Given the description of an element on the screen output the (x, y) to click on. 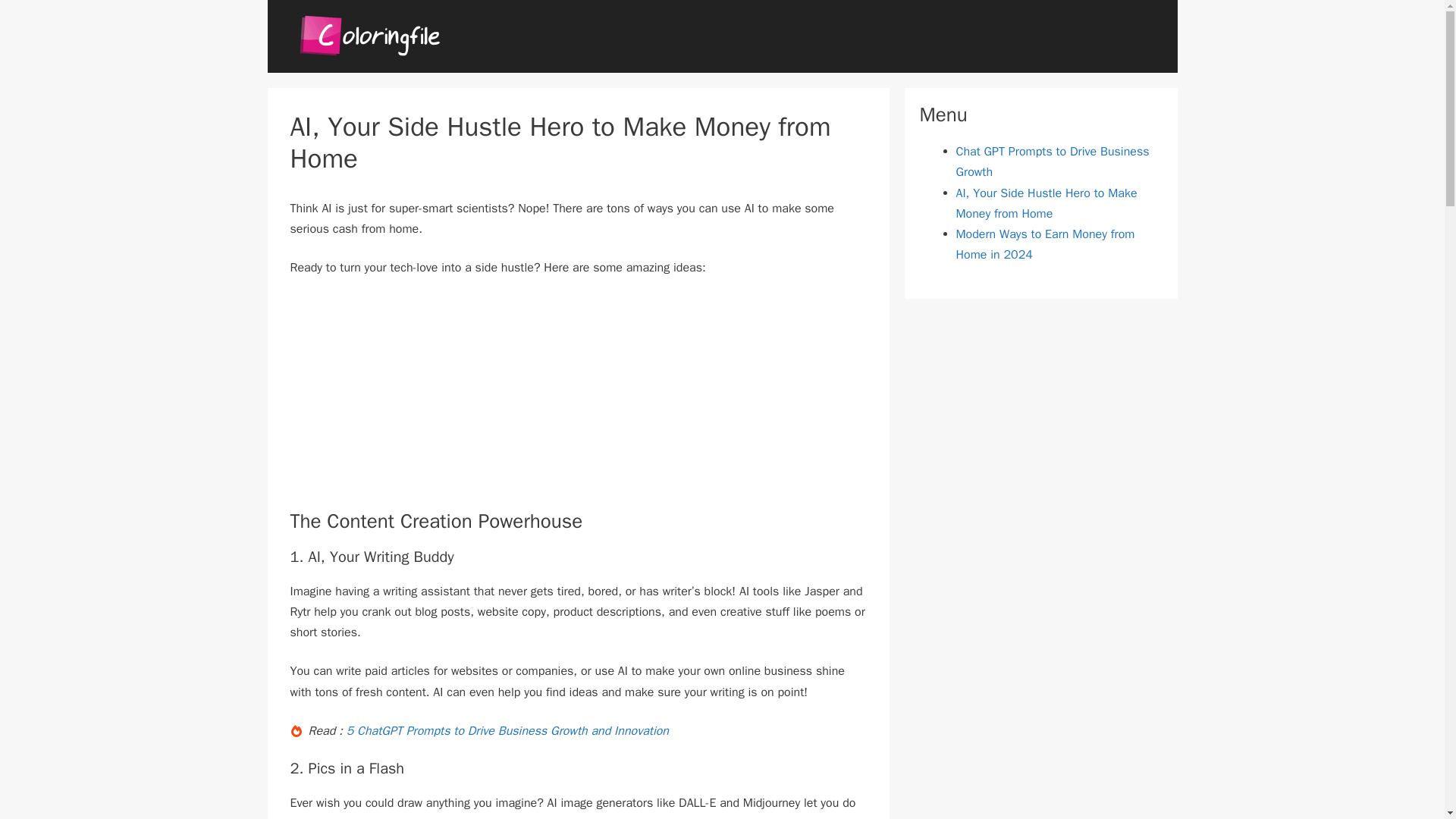
AI, Your Side Hustle Hero to Make Money from Home (1046, 203)
Modern Ways to Earn Money from Home in 2024 (1044, 244)
5 ChatGPT Prompts to Drive Business Growth and Innovation (507, 730)
Chat GPT Prompts to Drive Business Growth (1051, 161)
